Given the description of an element on the screen output the (x, y) to click on. 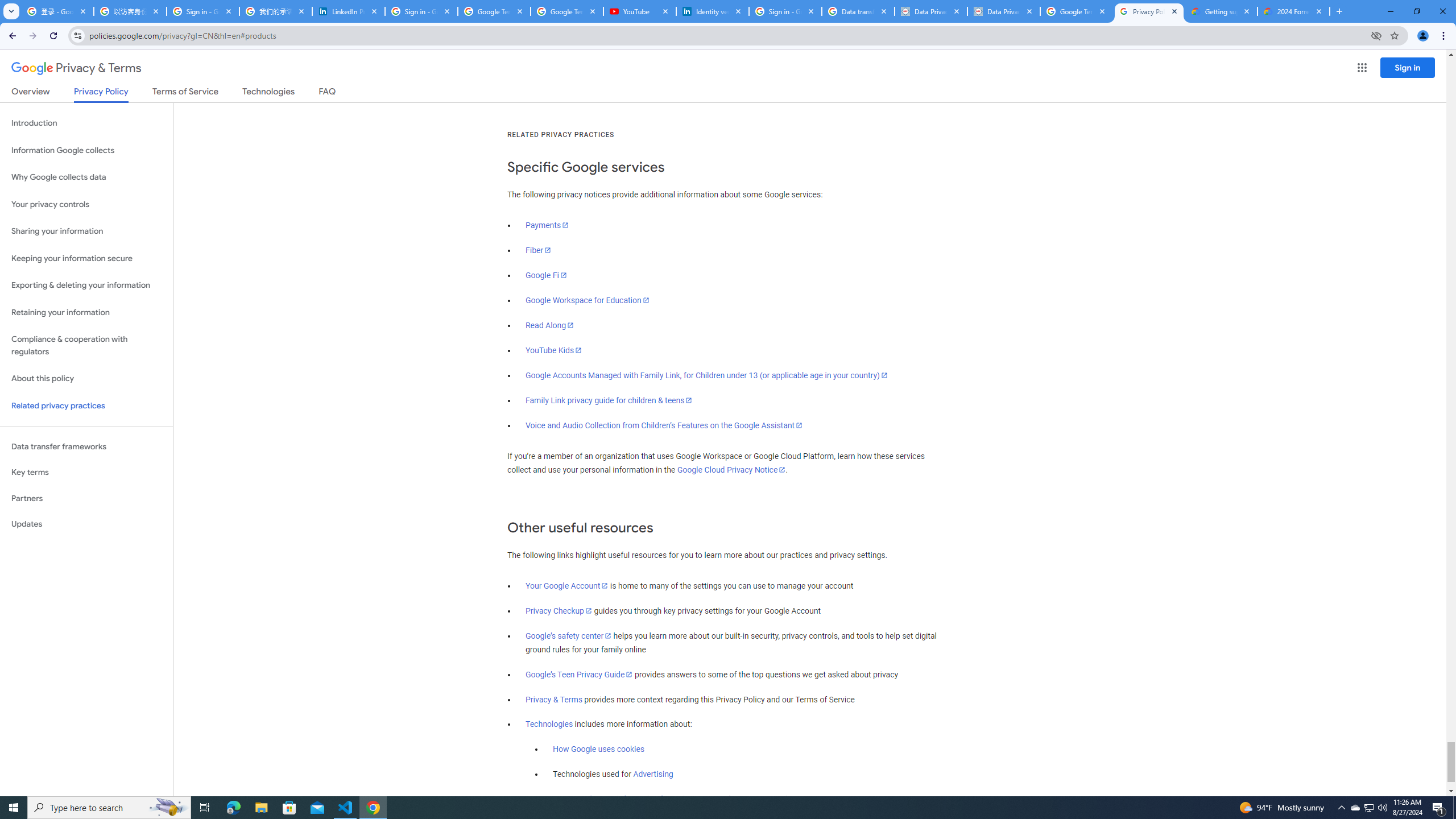
About this policy (86, 379)
Third-party cookies blocked (1376, 35)
Introduction (86, 122)
Your Google Account (566, 585)
Payments (547, 225)
Information Google collects (86, 150)
Keeping your information secure (86, 258)
Updates (86, 524)
Related privacy practices (86, 405)
